Given the description of an element on the screen output the (x, y) to click on. 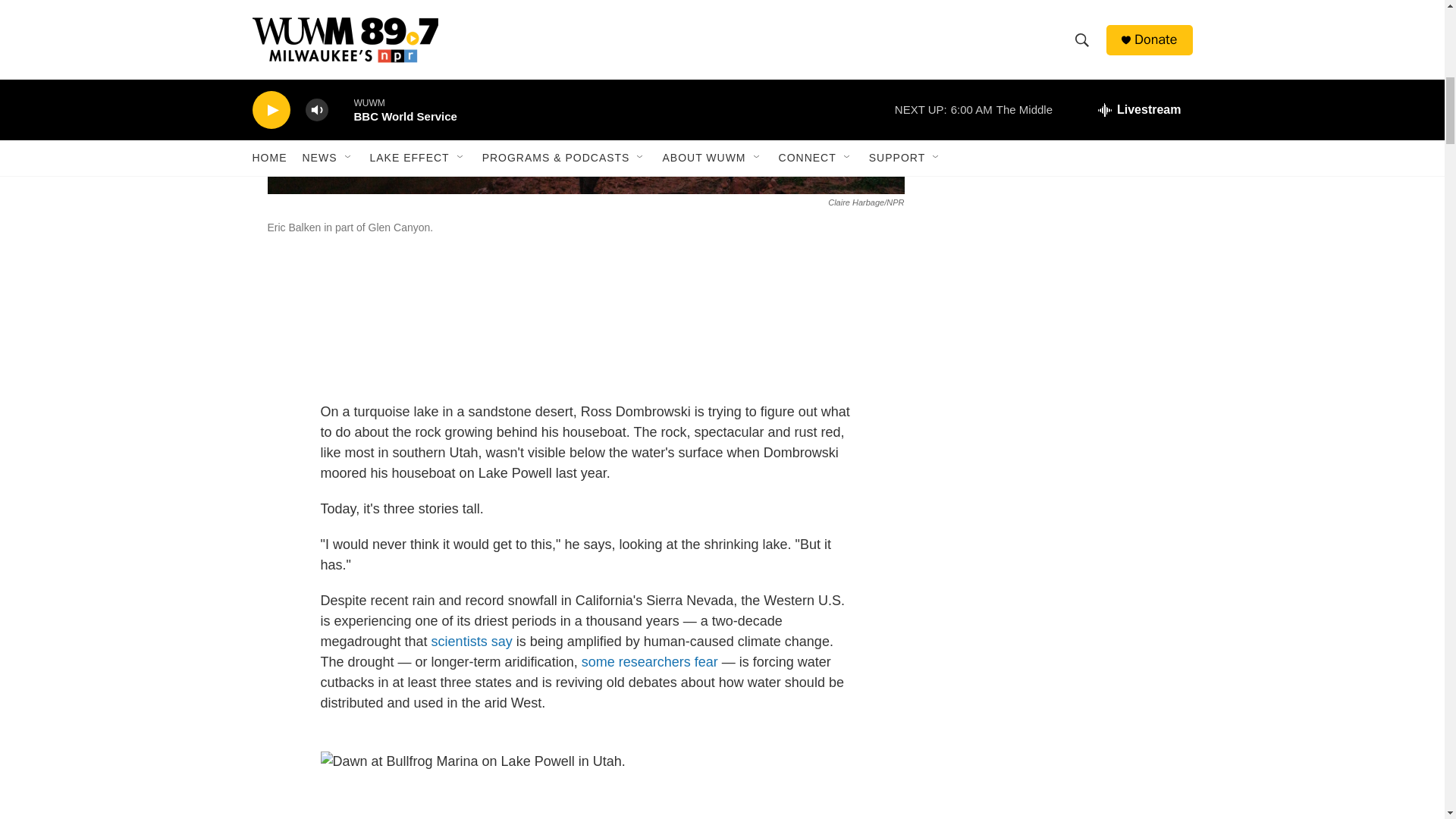
3rd party ad content (1062, 95)
